Given the description of an element on the screen output the (x, y) to click on. 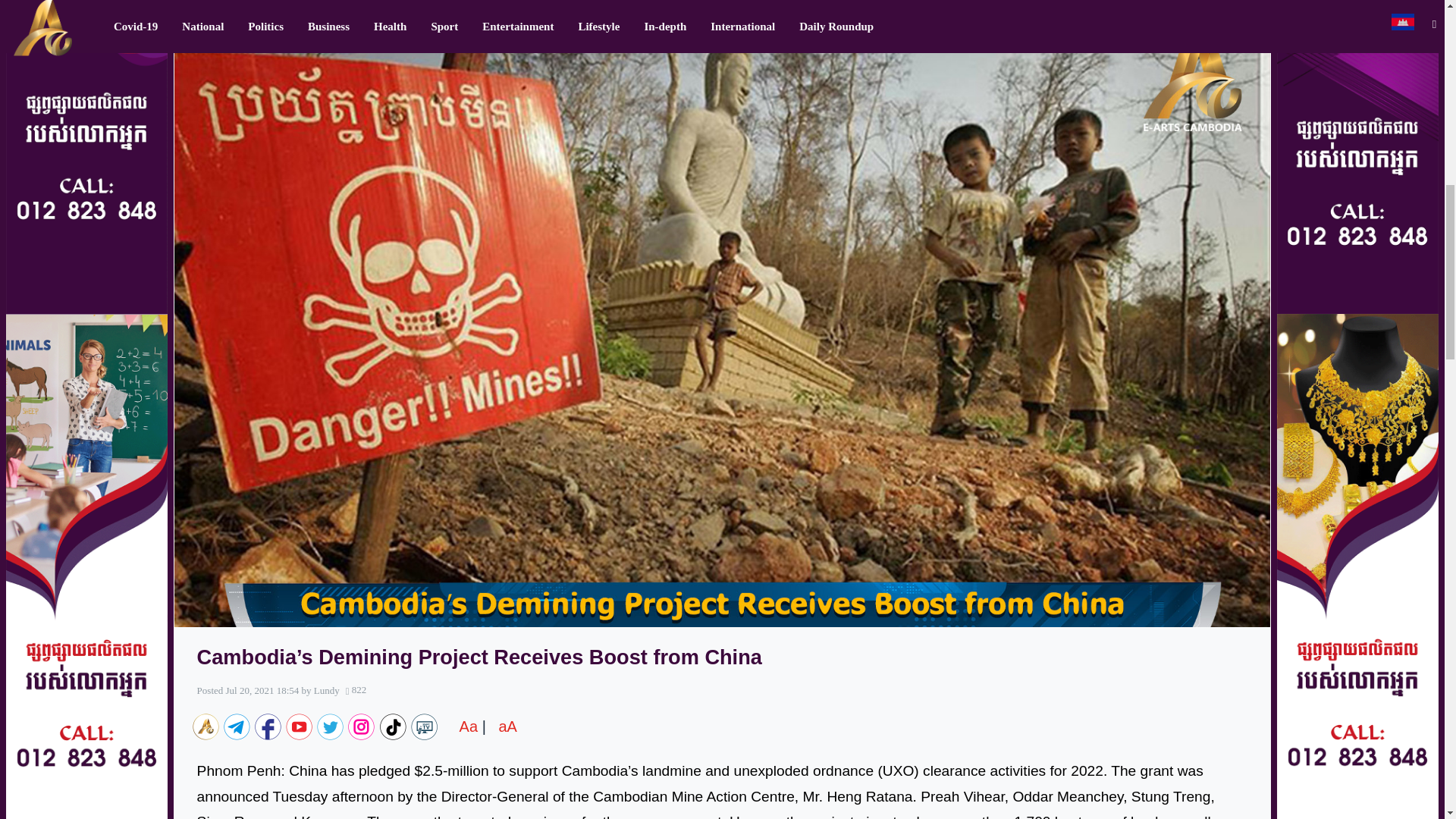
Total View (356, 689)
